Given the description of an element on the screen output the (x, y) to click on. 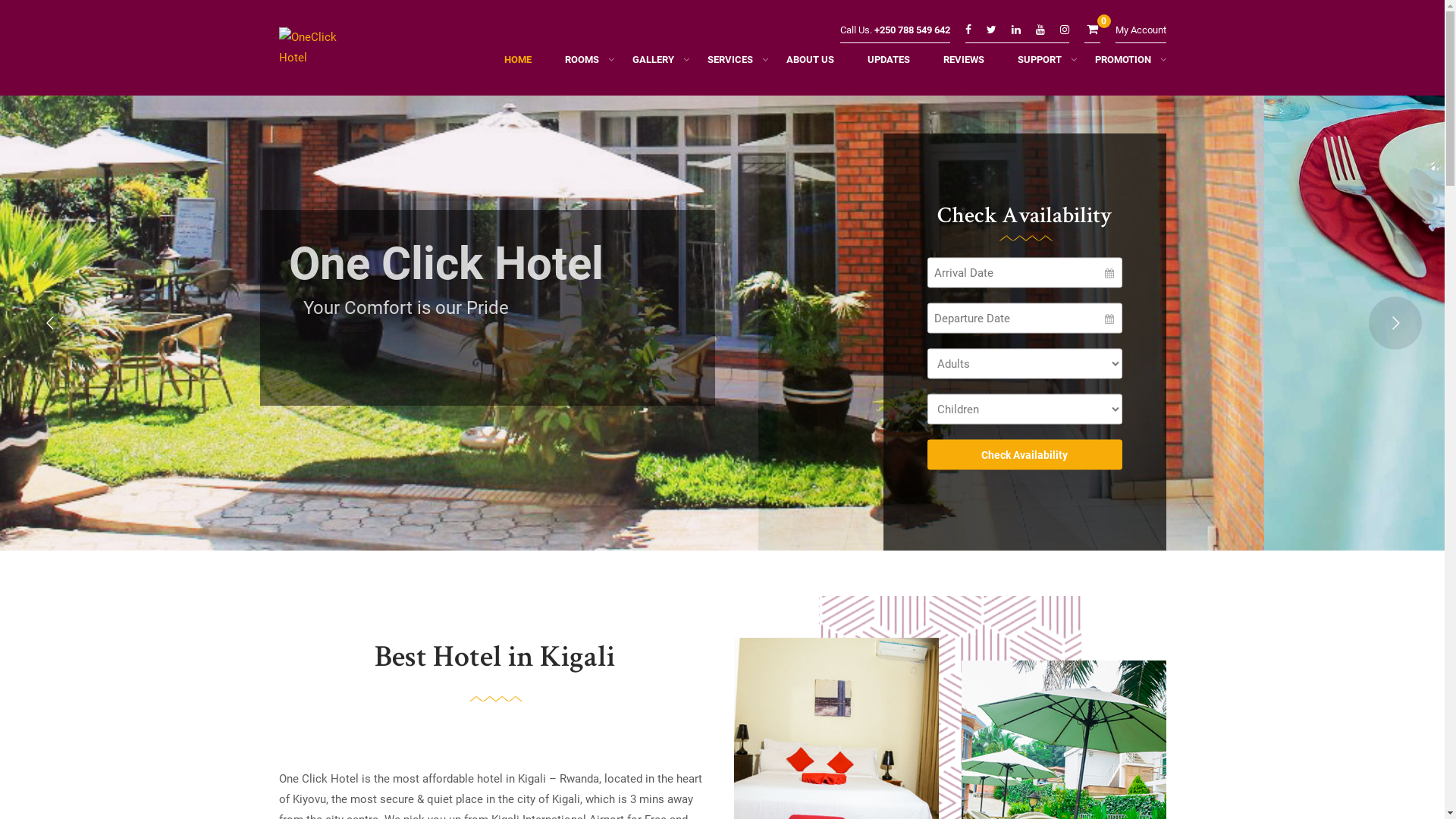
UPDATES Element type: text (888, 63)
ROOMS Element type: text (581, 63)
My Account Element type: text (1139, 29)
HOME Element type: text (517, 63)
GALLERY Element type: text (653, 63)
Check Availability Element type: text (1023, 454)
+250 788 549 642 Element type: text (912, 29)
OneClick Hotel - Kiyovu - Kigali - Rwanda Element type: hover (316, 51)
REVIEWS Element type: text (963, 63)
ABOUT US Element type: text (809, 63)
